Given the description of an element on the screen output the (x, y) to click on. 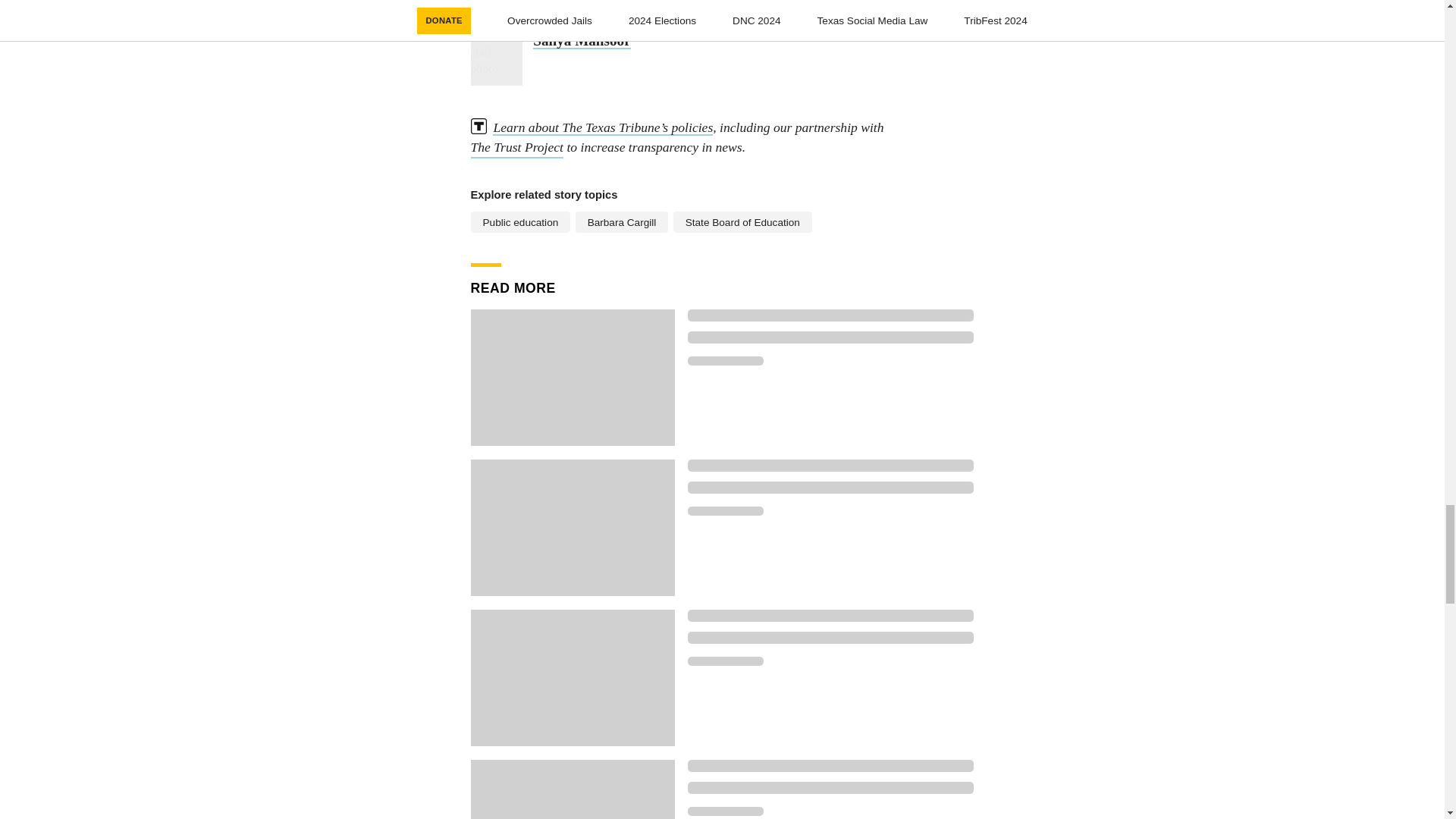
Loading indicator (830, 487)
Loading indicator (830, 315)
Loading indicator (724, 810)
Loading indicator (724, 660)
Loading indicator (830, 637)
Loading indicator (830, 465)
Loading indicator (724, 510)
Loading indicator (830, 766)
Loading indicator (830, 615)
Loading indicator (724, 360)
